Given the description of an element on the screen output the (x, y) to click on. 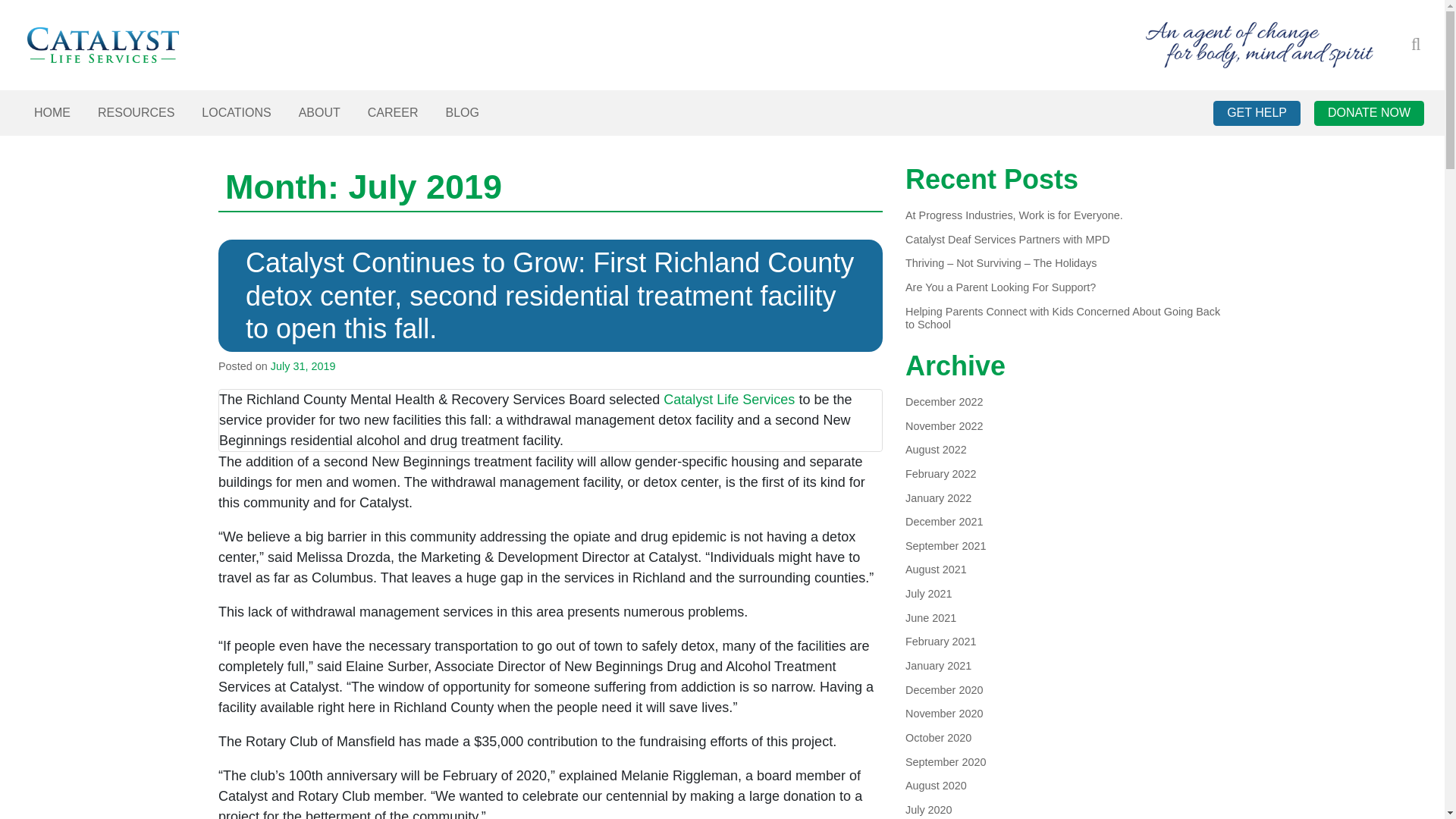
HOME (52, 112)
At Progress Industries, Work is for Everyone. (1013, 215)
About (319, 112)
CAREER (392, 112)
July 2021 (928, 593)
Catalyst Life Services (728, 398)
August 2022 (935, 449)
November 2020 (943, 713)
June 2021 (930, 617)
